Given the description of an element on the screen output the (x, y) to click on. 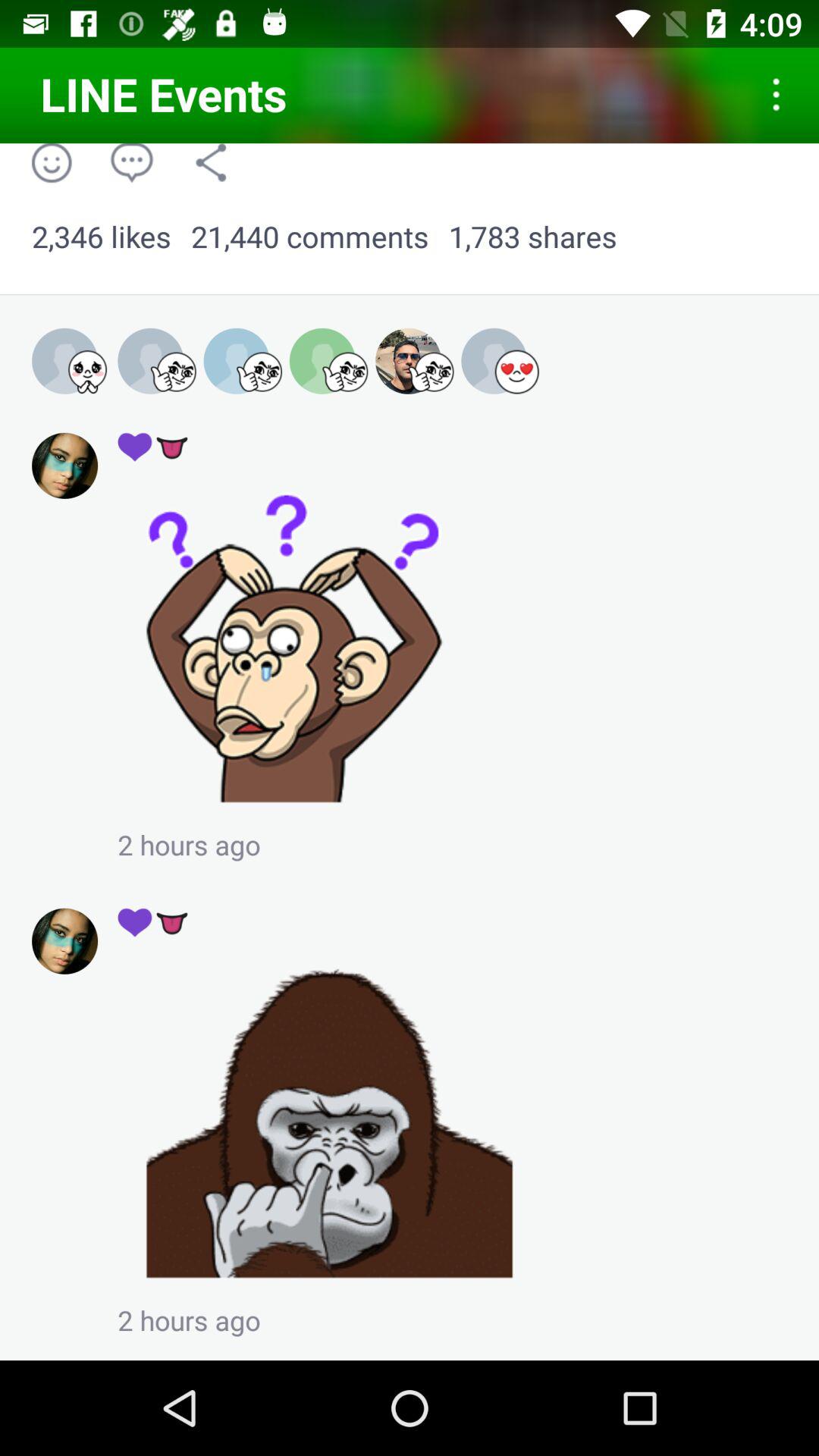
share the article (329, 1122)
